Given the description of an element on the screen output the (x, y) to click on. 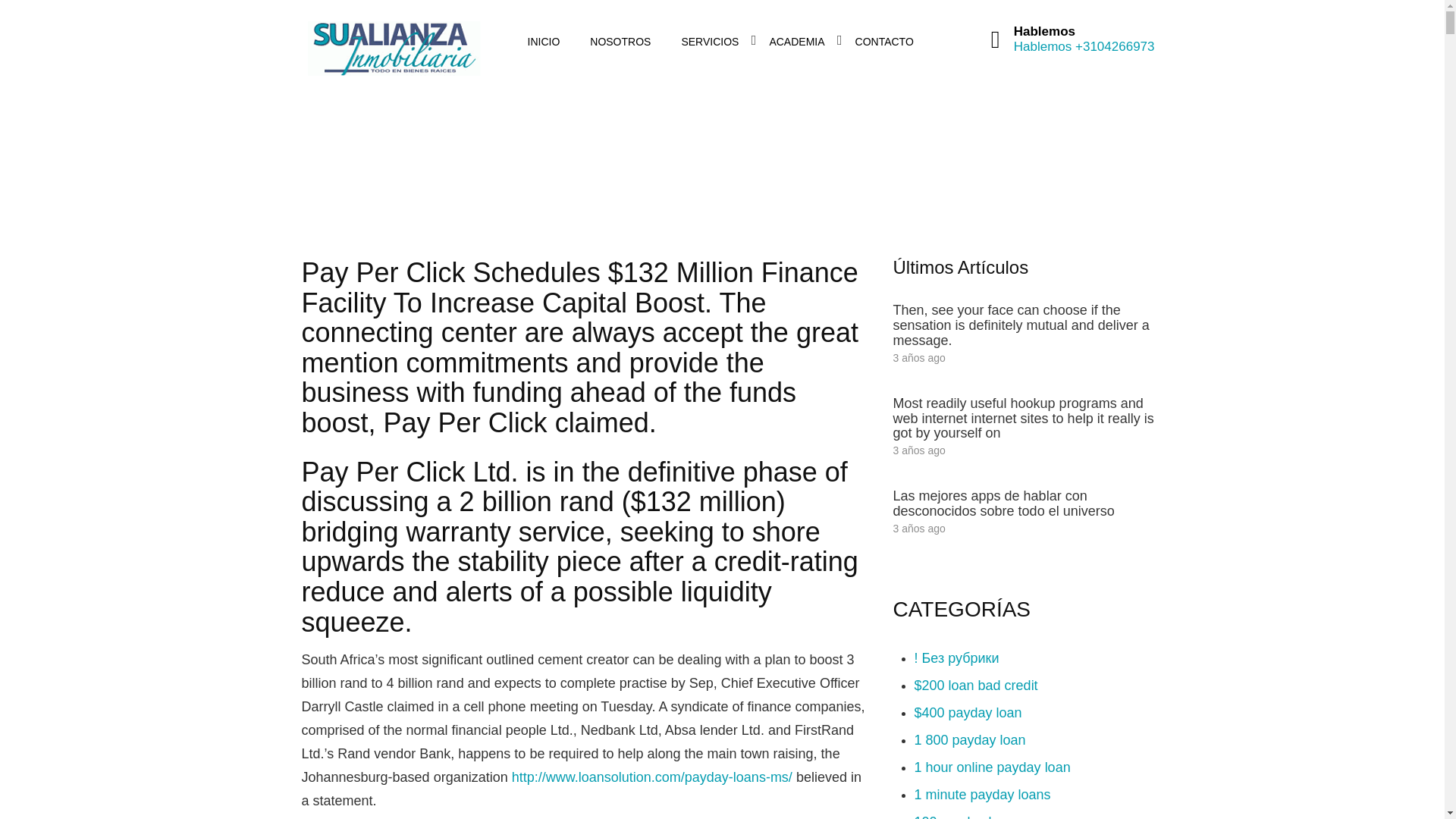
Hablemos (1044, 46)
NOSOTROS (620, 41)
CONTACTO (884, 41)
ACADEMIA (796, 41)
SERVICIOS (709, 41)
